Given the description of an element on the screen output the (x, y) to click on. 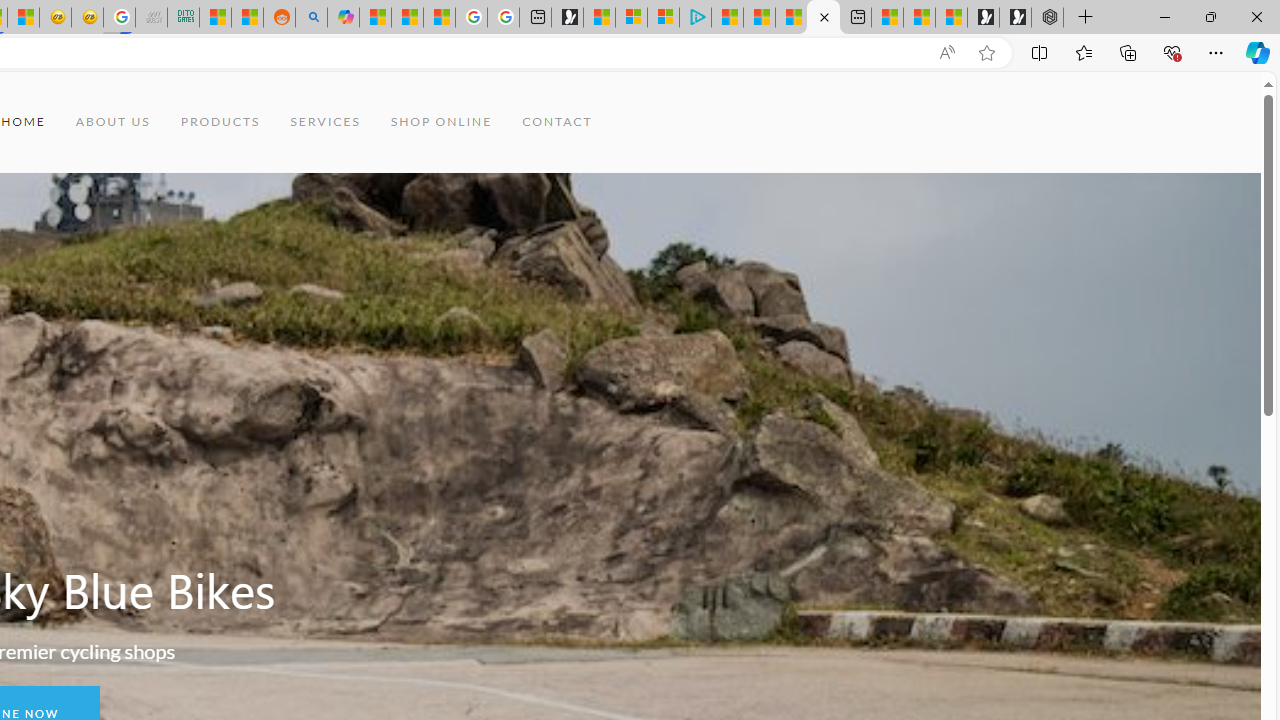
SERVICES (325, 122)
